Given the description of an element on the screen output the (x, y) to click on. 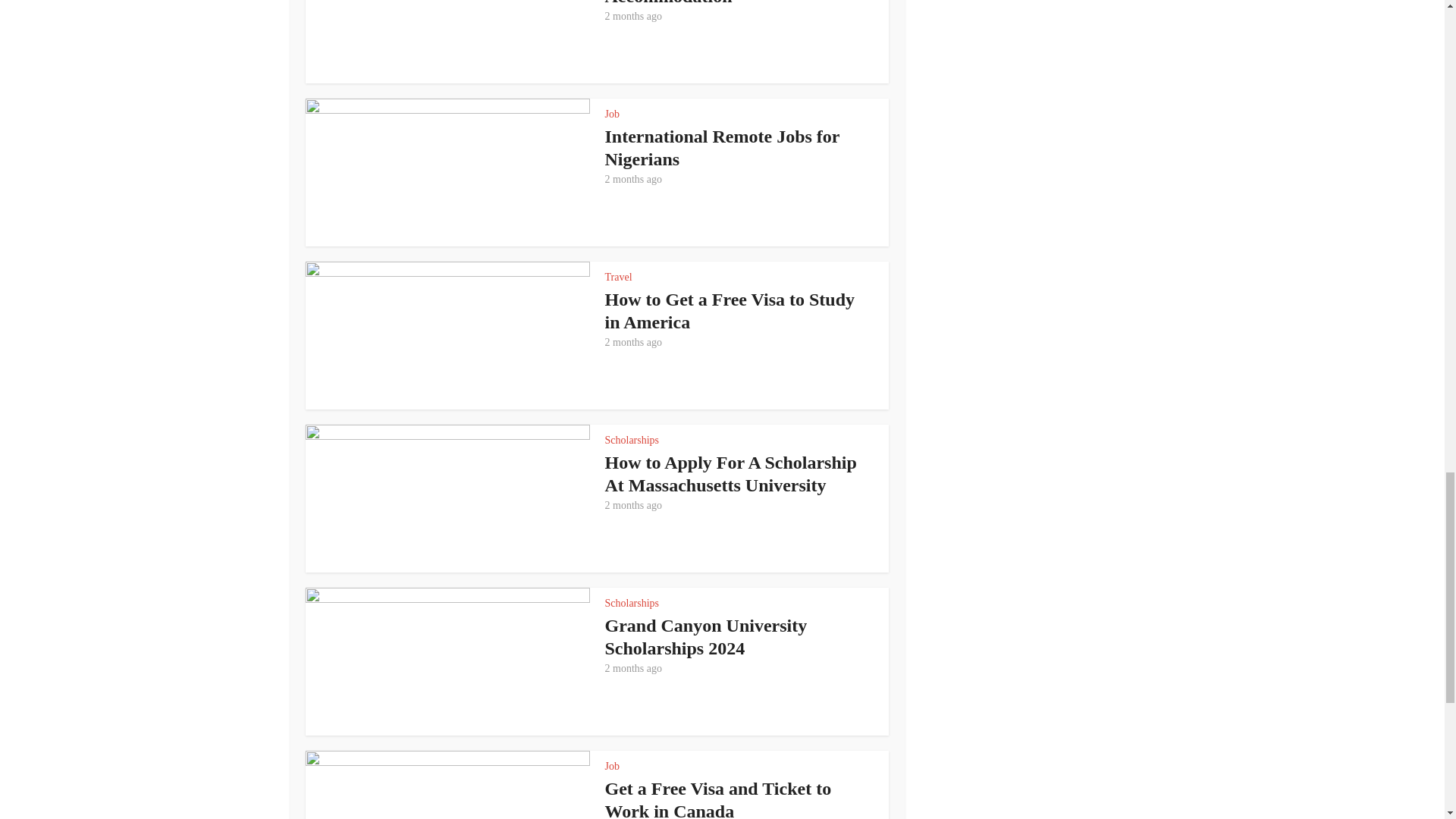
Scholarships (632, 439)
International Remote Jobs for Nigerians (722, 147)
How to Get a Free Visa to Study in America (730, 310)
Travel (618, 276)
How to Apply For A Scholarship At Massachusetts University (731, 473)
Grand Canyon University Scholarships 2024 (706, 636)
Job (612, 113)
Scholarships (632, 603)
Jobs in Europe with Free Accommodation (702, 2)
